Given the description of an element on the screen output the (x, y) to click on. 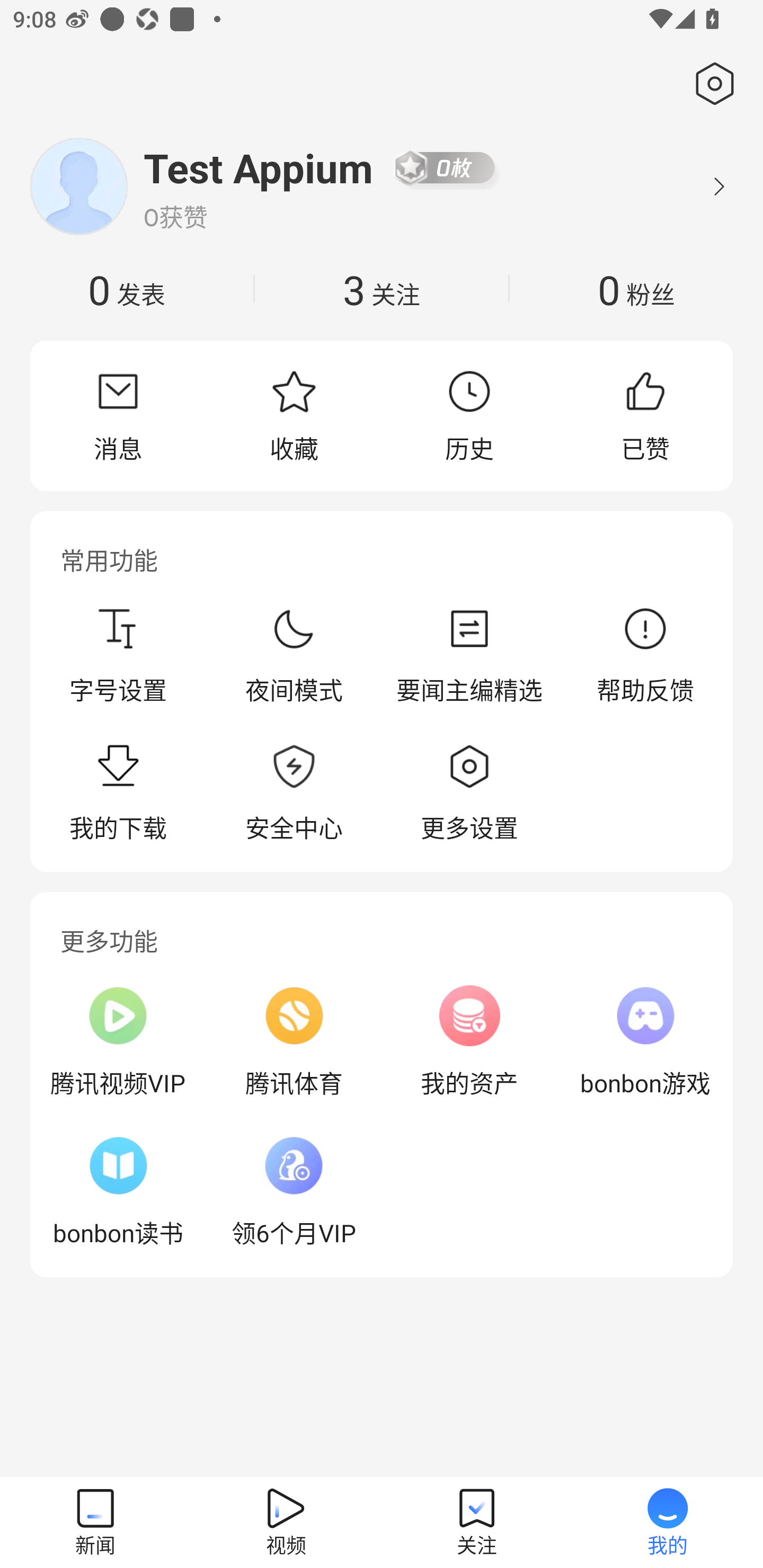
设置，可点击 (711, 83)
头像，可点击 (78, 186)
用户：Test Appium，可点击 (258, 167)
0枚勋章，可点击 (444, 167)
0发表，可点击 (126, 288)
3关注，可点击 (381, 288)
0粉丝，可点击 (636, 288)
消息，可点击 (118, 415)
收藏，可点击 (293, 415)
历史，可点击 (469, 415)
已赞，可点击 (644, 415)
字号设置，可点击 (118, 655)
夜间模式，可点击 (293, 655)
要闻主编精选，可点击 (469, 655)
帮助反馈，可点击 (644, 655)
我的下载，可点击 (118, 793)
安全中心，可点击 (293, 793)
更多设置，可点击 (469, 793)
腾讯视频VIP，可点击 (118, 1041)
腾讯体育，可点击 (293, 1041)
我的资产，可点击 (469, 1041)
bonbon游戏，可点击 (644, 1041)
bonbon读书，可点击 (118, 1191)
领6个月VIP，可点击 (293, 1191)
